Given the description of an element on the screen output the (x, y) to click on. 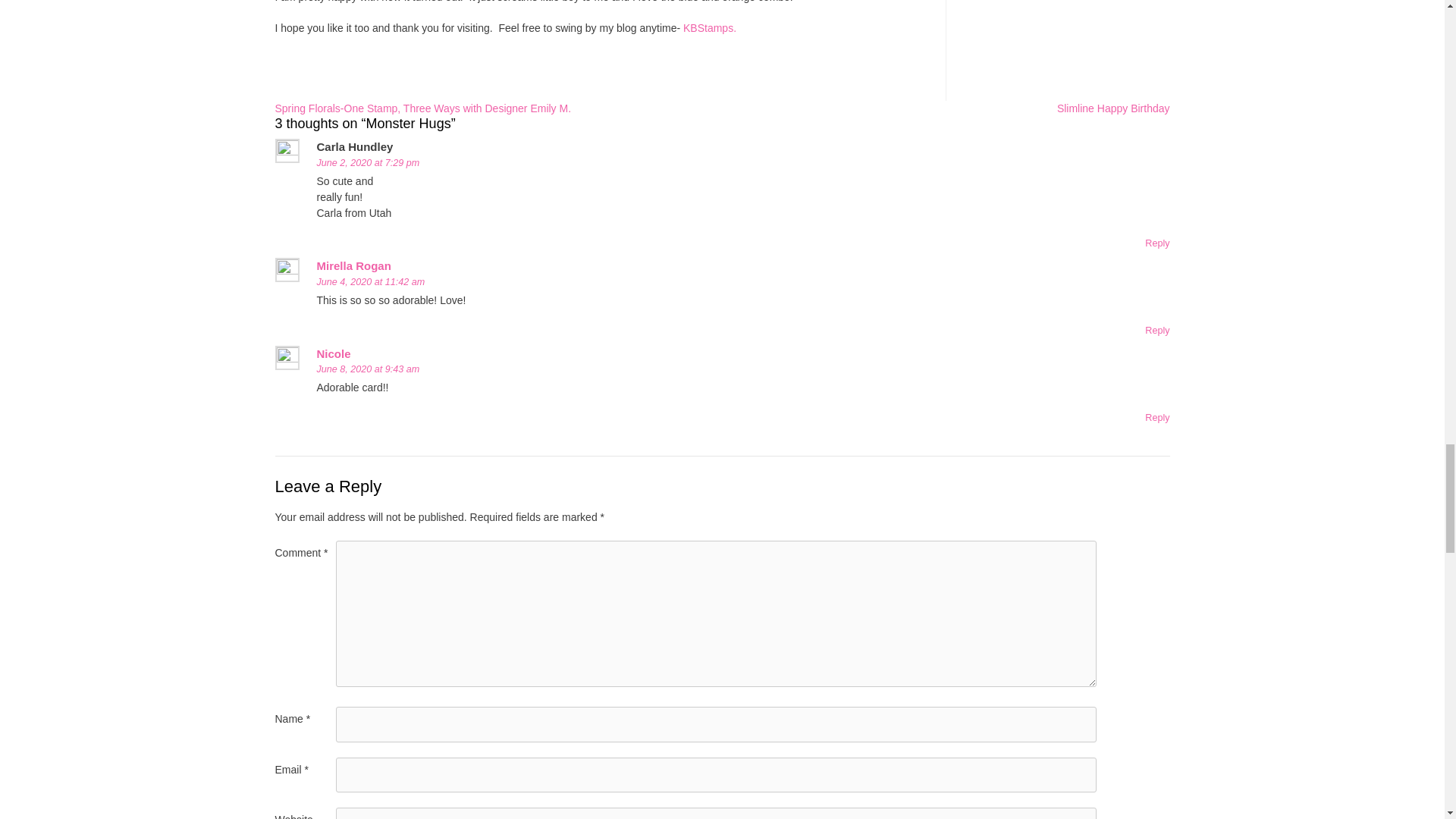
Nicole (333, 353)
Spring Florals-One Stamp, Three Ways with Designer Emily M. (422, 107)
Reply (1156, 330)
June 2, 2020 at 7:29 pm (368, 163)
June 8, 2020 at 9:43 am (368, 368)
Slimline Happy Birthday (1113, 107)
June 4, 2020 at 11:42 am (371, 281)
Reply (1156, 243)
Mirella Rogan (354, 265)
KBStamps. (709, 27)
